Given the description of an element on the screen output the (x, y) to click on. 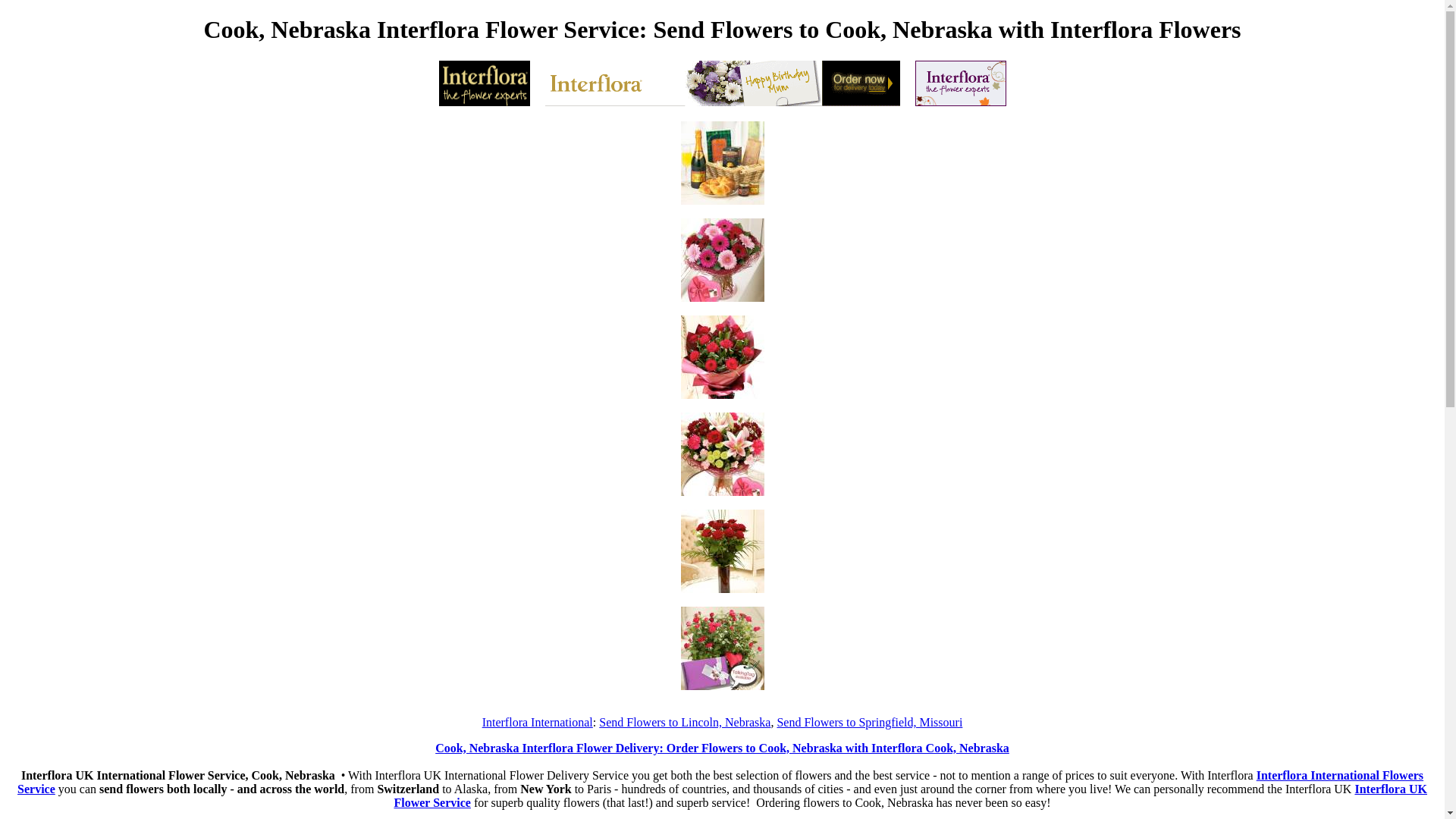
Interflora International Flowers Service (720, 782)
Interflora UK Flower Service (720, 782)
Send Flowers to Lincoln, Nebraska (684, 721)
Send Flowers to Springfield, Missouri (869, 721)
Interflora UK Flower Service (909, 795)
Interflora UK International Flowers Service (722, 748)
